Given the description of an element on the screen output the (x, y) to click on. 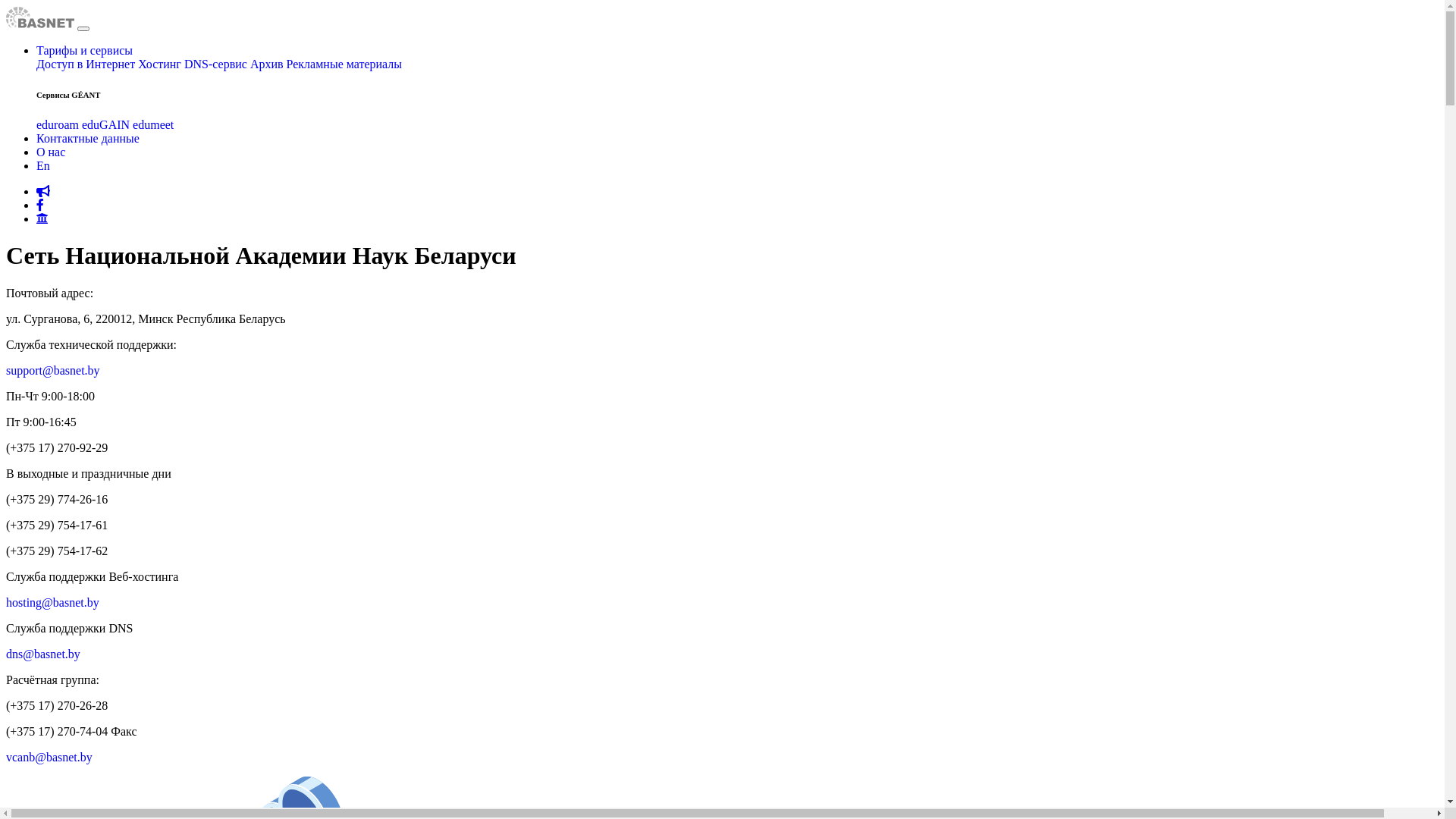
dns@basnet.by Element type: text (43, 653)
vcanb@basnet.by Element type: text (49, 756)
eduGAIN Element type: text (105, 124)
eduroam Element type: text (57, 124)
hosting@basnet.by Element type: text (52, 602)
support@basnet.by Element type: text (53, 370)
edumeet Element type: text (152, 124)
En Element type: text (43, 165)
